Given the description of an element on the screen output the (x, y) to click on. 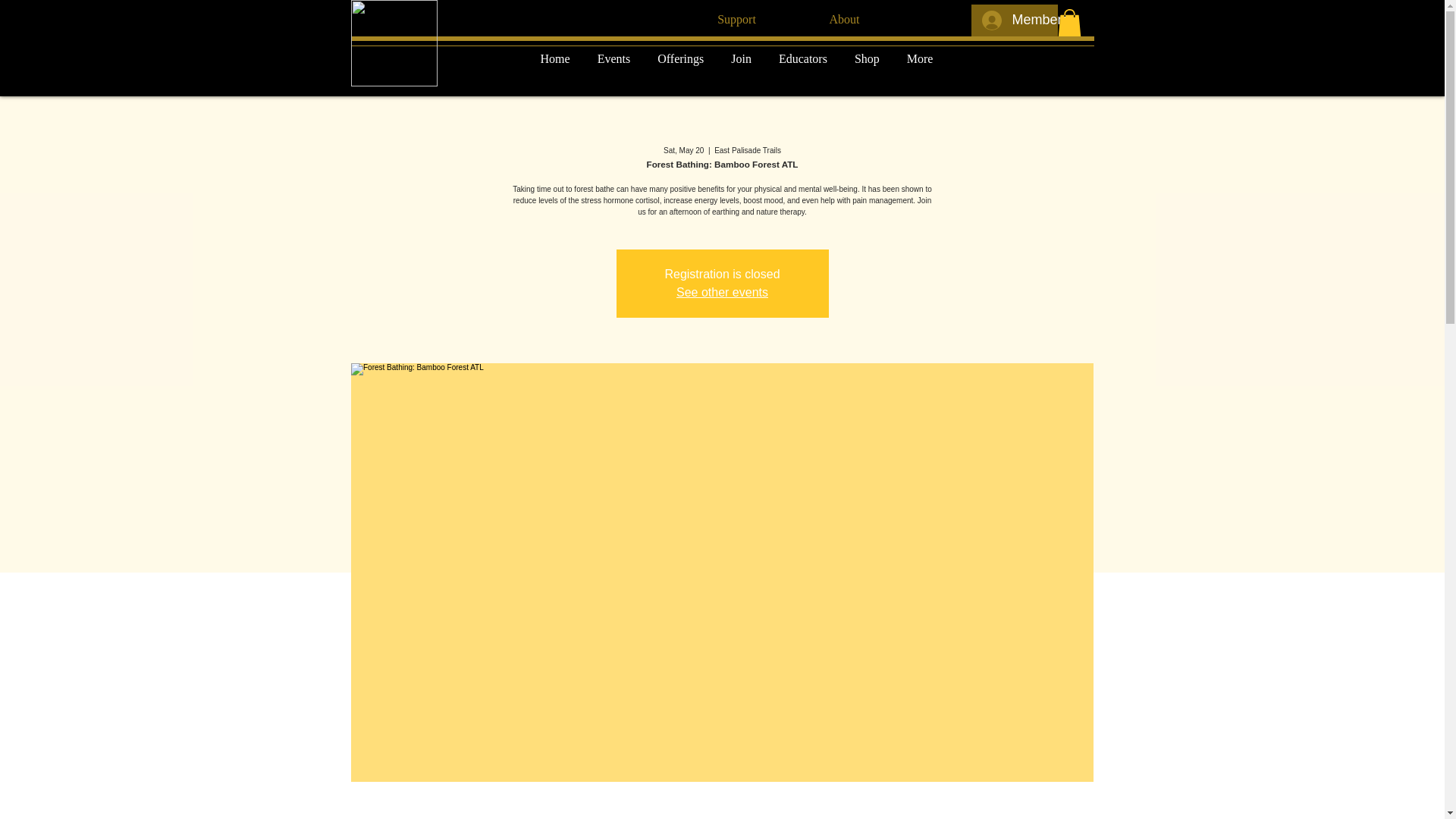
Offerings (680, 62)
Members (1014, 20)
Home (555, 62)
Events (614, 62)
Join (741, 62)
See other events (722, 291)
Shop (867, 62)
Educators (803, 62)
Support (736, 19)
